Given the description of an element on the screen output the (x, y) to click on. 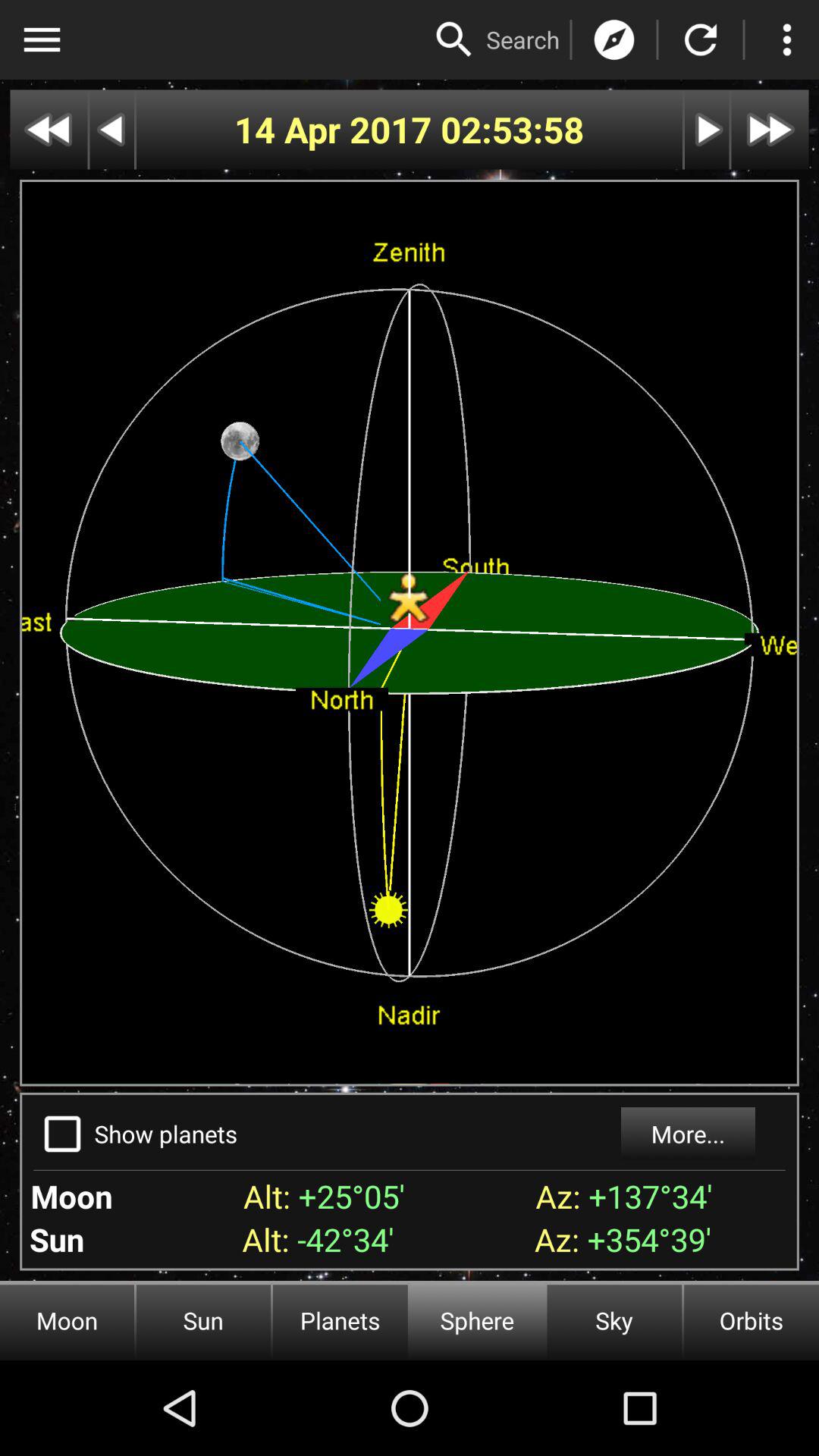
go to previews (48, 129)
